Given the description of an element on the screen output the (x, y) to click on. 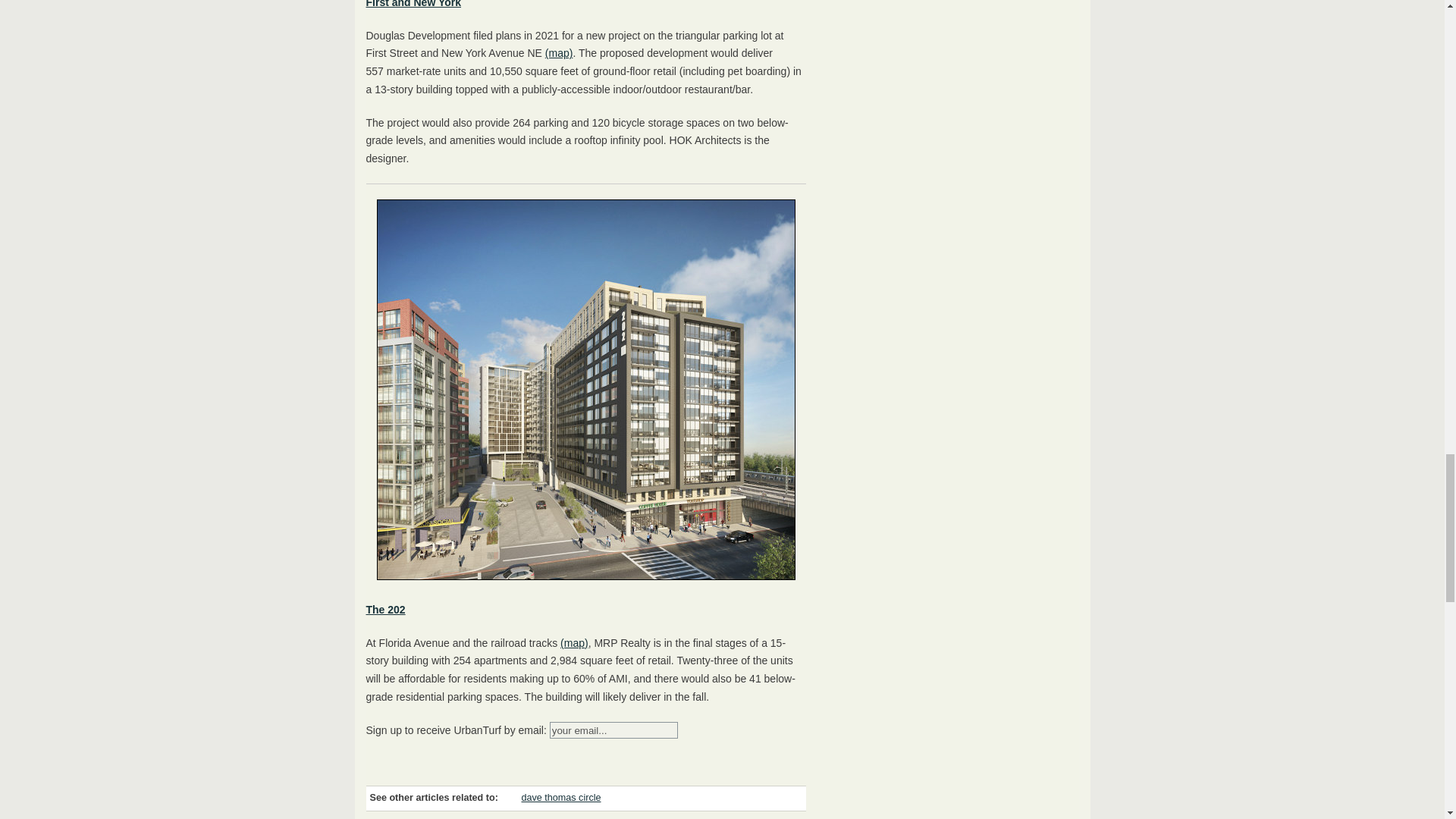
The 202 (384, 609)
dave thomas circle (561, 797)
First and New York (413, 4)
dave thomas circle (561, 797)
your email... (614, 729)
